Given the description of an element on the screen output the (x, y) to click on. 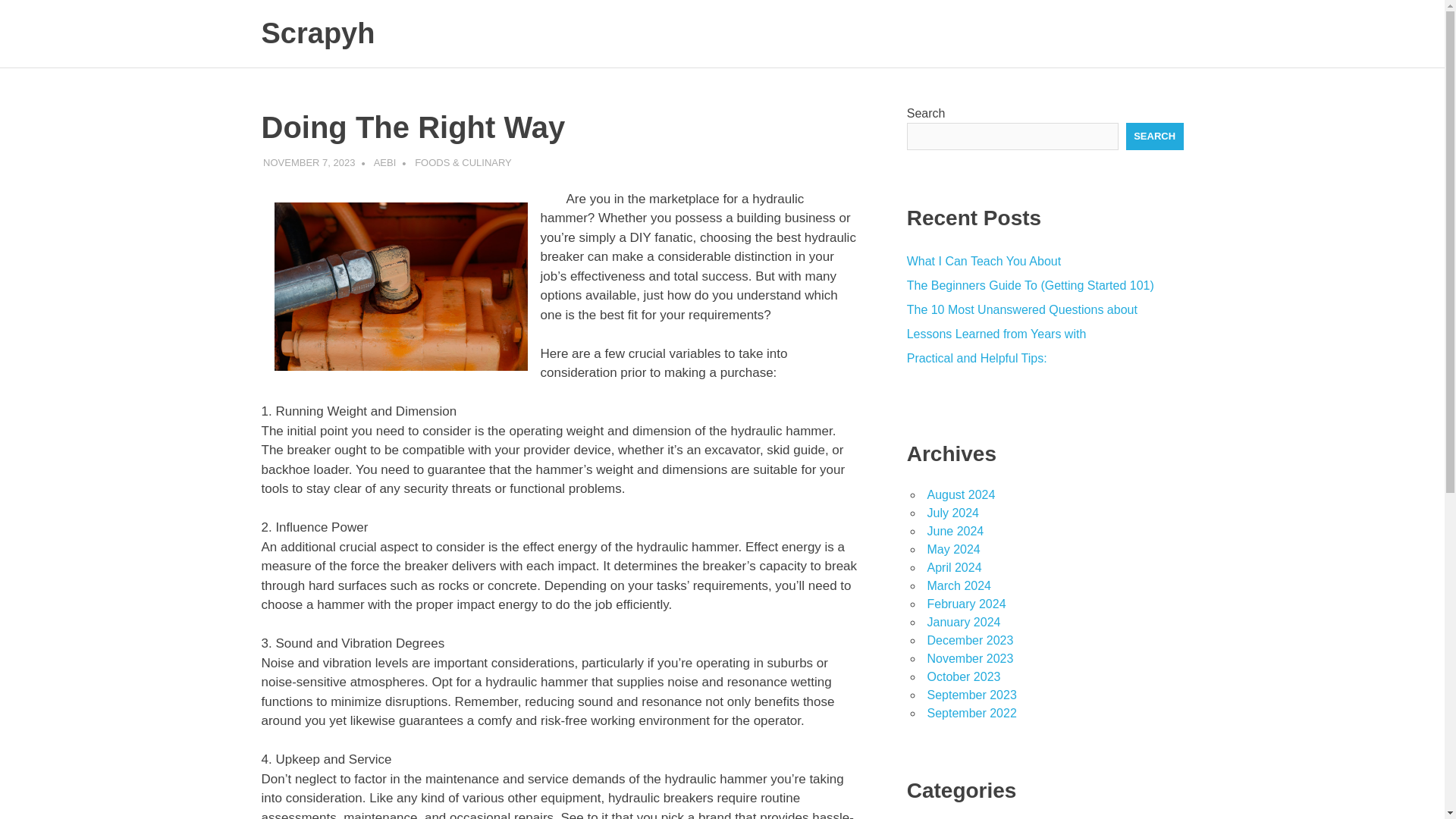
July 2024 (952, 512)
NOVEMBER 7, 2023 (309, 161)
January 2024 (963, 621)
Lessons Learned from Years with (996, 333)
December 2023 (969, 640)
The 10 Most Unanswered Questions about (1022, 309)
April 2024 (953, 567)
October 2023 (963, 676)
August 2024 (960, 494)
September 2023 (971, 694)
